Given the description of an element on the screen output the (x, y) to click on. 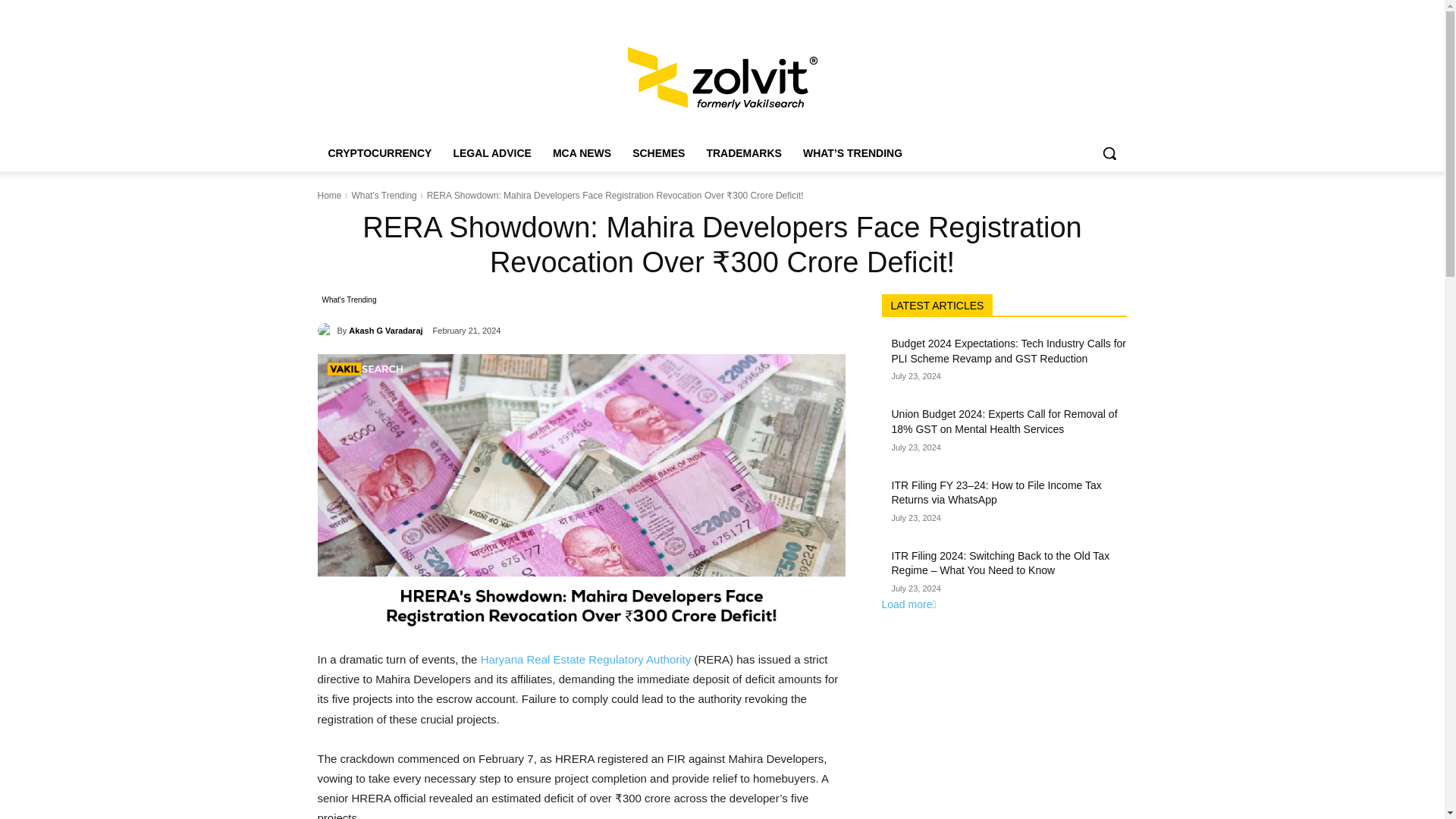
Akash G Varadaraj (385, 330)
Linkedin (1097, 9)
SCHEMES (658, 153)
Legal Advice (408, 10)
LEGAL ADVICE (491, 153)
Akash G Varadaraj (326, 330)
Haryana Real Estate Regulatory Authority (585, 658)
Trademarks (567, 10)
Instagram (1075, 9)
Schemes (516, 10)
Youtube (1117, 9)
What's Trending (348, 300)
Facebook (1034, 9)
Twitter (1055, 9)
Cryptocurrency (345, 10)
